Given the description of an element on the screen output the (x, y) to click on. 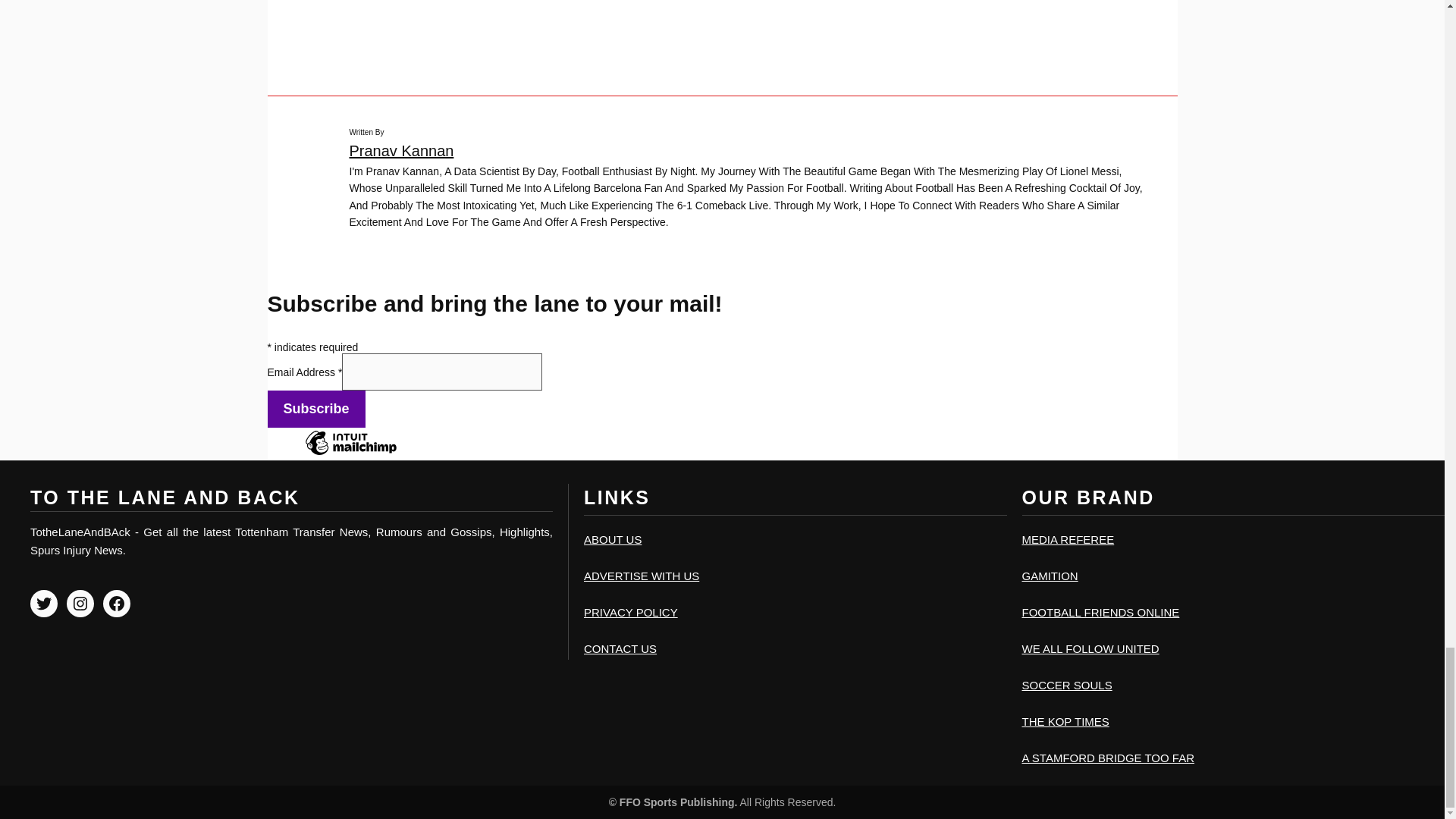
Mailchimp - email marketing made easy and fun (349, 453)
Subscribe (315, 408)
